Given the description of an element on the screen output the (x, y) to click on. 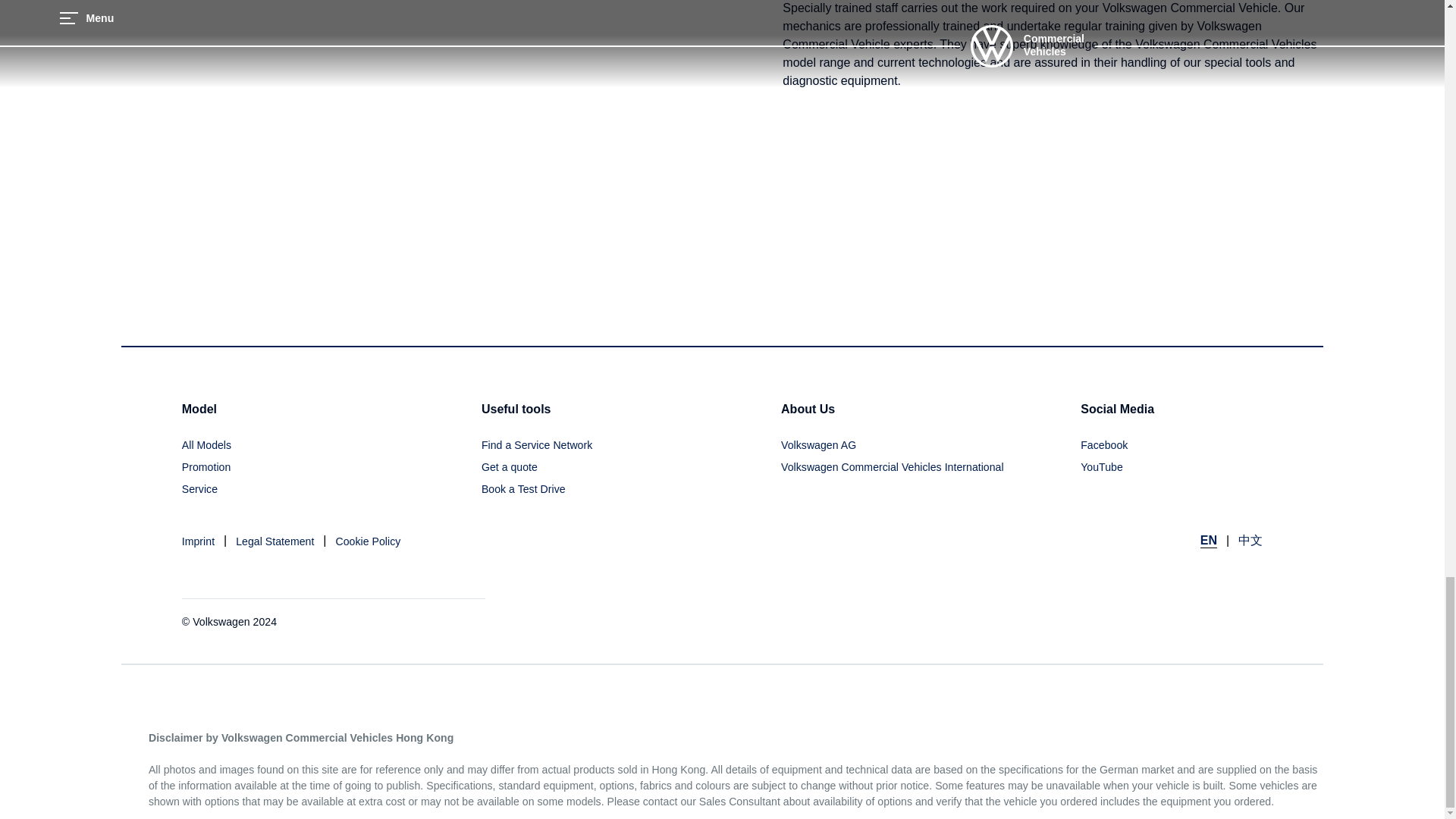
Find a Service Network (536, 445)
Book a Test Drive (523, 489)
EN (1208, 540)
Promotion (206, 467)
All Models (206, 445)
Service (199, 489)
Get a quote (509, 467)
Volkswagen AG (818, 445)
